Given the description of an element on the screen output the (x, y) to click on. 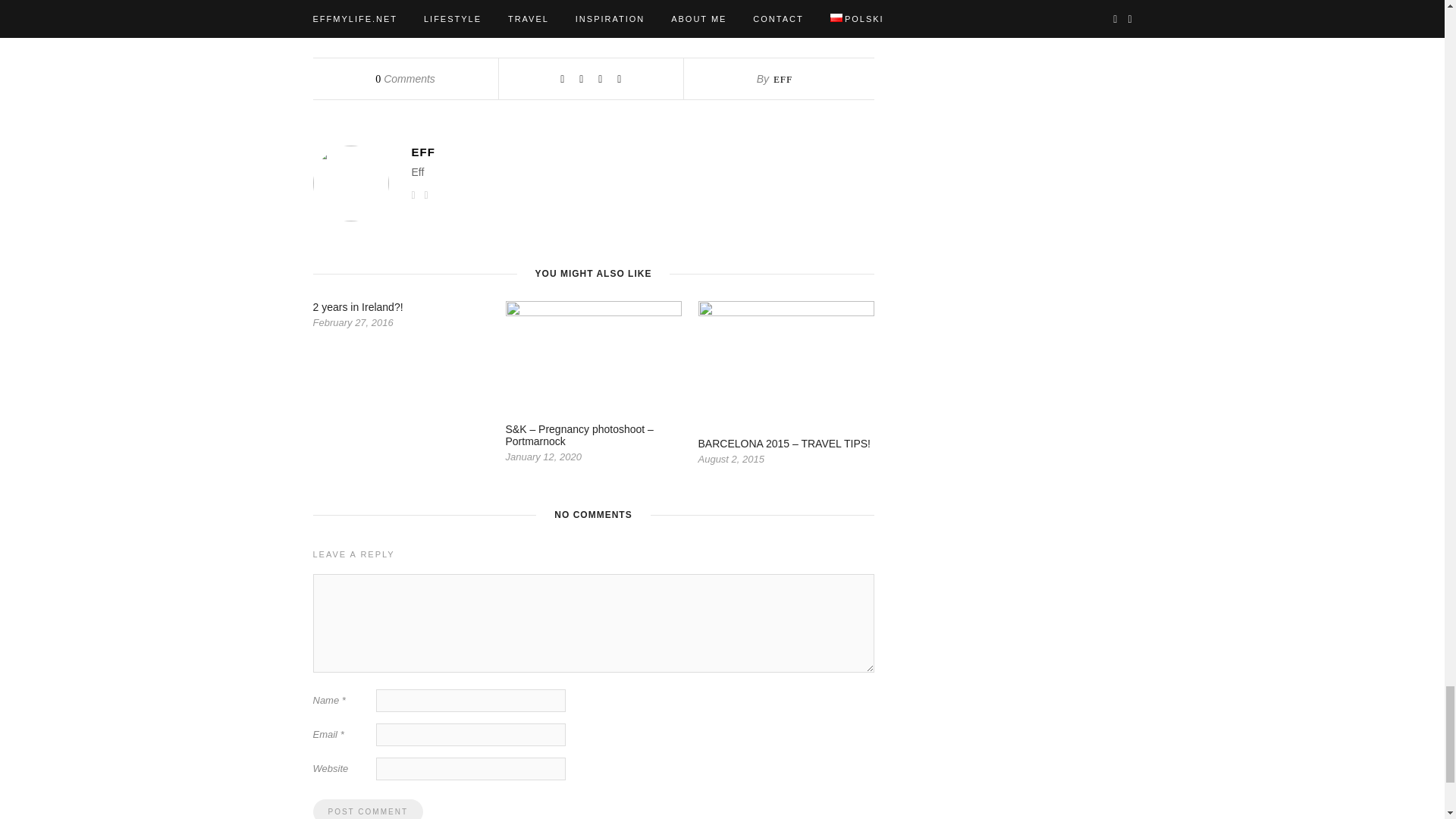
Posts by Eff (782, 79)
0 Comments (405, 78)
NAVAN (444, 15)
Post Comment (367, 809)
IRELAND (398, 15)
2 years in Ireland?! (358, 306)
Post Comment (367, 809)
EFF (782, 79)
BREAKFAST (342, 15)
EFF (641, 151)
